Given the description of an element on the screen output the (x, y) to click on. 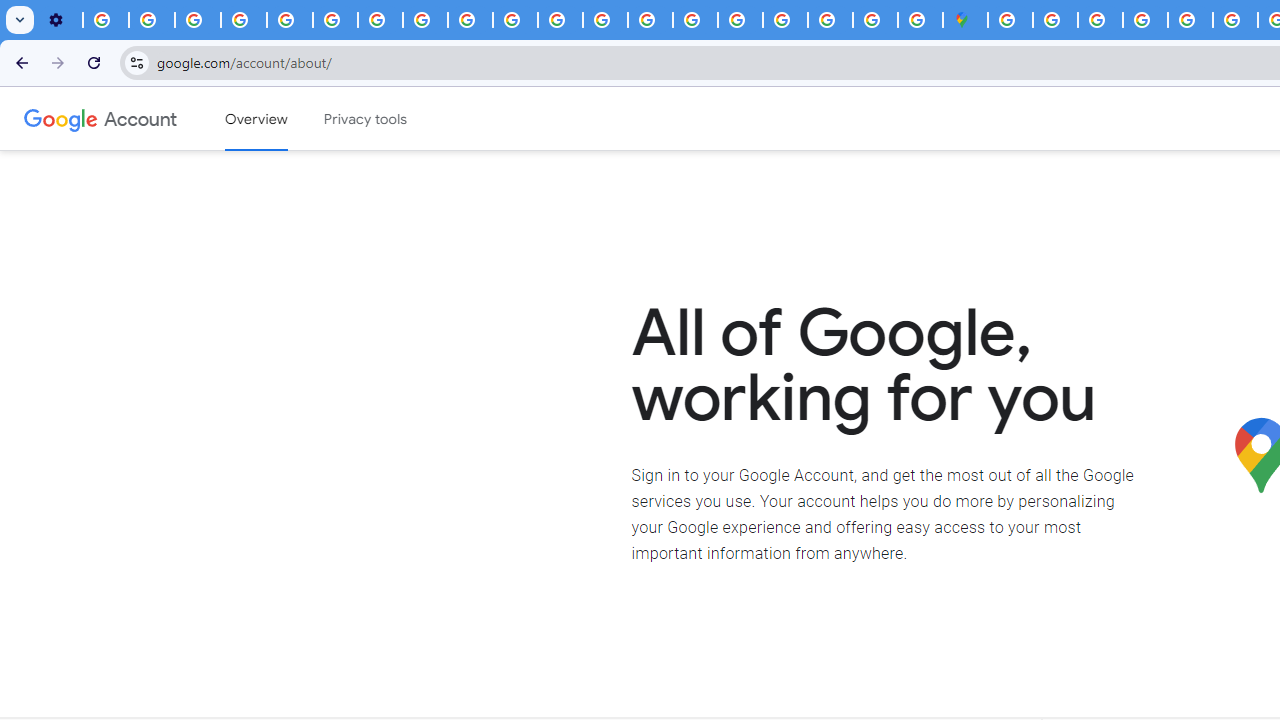
YouTube (335, 20)
Sign in - Google Accounts (1010, 20)
Skip to Content (285, 115)
Terms and Conditions (1190, 20)
Privacy Checkup (470, 20)
Privacy Checkup (514, 20)
Privacy Help Center - Policies Help (290, 20)
Delete photos & videos - Computer - Google Photos Help (106, 20)
Learn how to find your photos - Google Photos Help (152, 20)
